Given the description of an element on the screen output the (x, y) to click on. 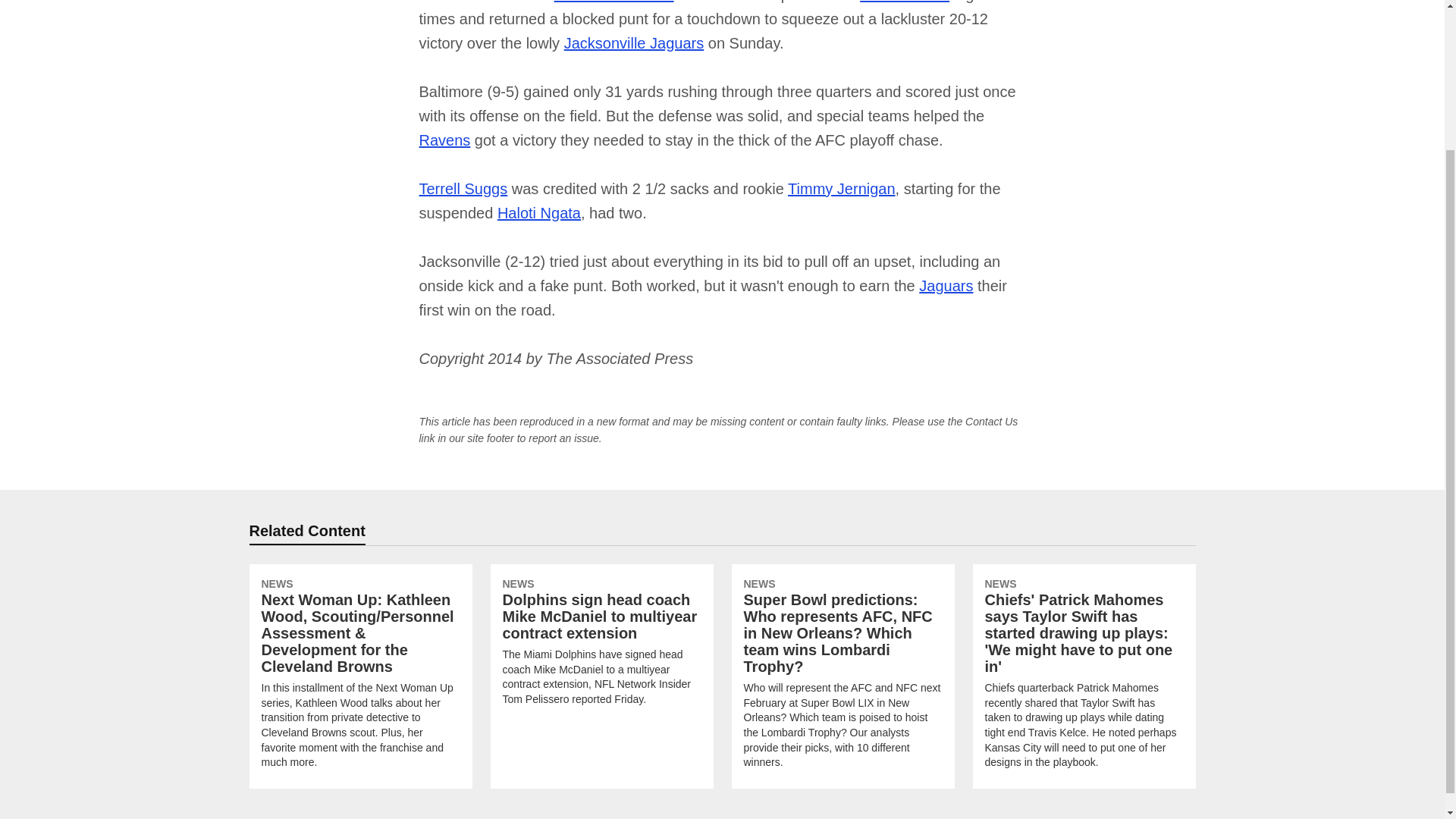
Blake Bortles (904, 1)
Haloti Ngata (538, 212)
Terrell Suggs (462, 188)
Jaguars (945, 285)
Timmy Jernigan (841, 188)
